Given the description of an element on the screen output the (x, y) to click on. 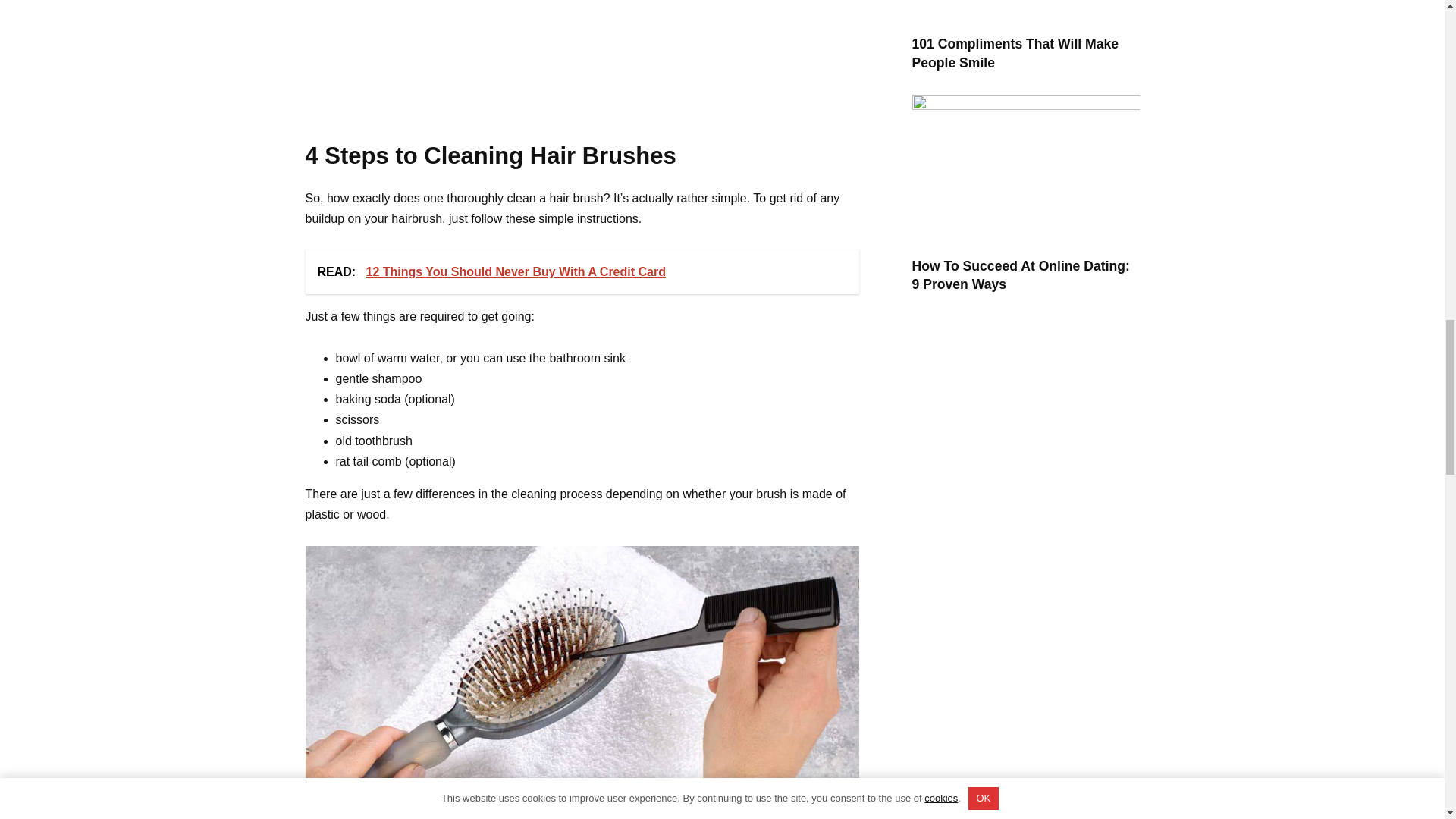
READ:   12 Things You Should Never Buy With A Credit Card (581, 271)
101 Compliments That Will Make People Smile (1014, 53)
How To Succeed At Online Dating: 9 Proven Ways (1020, 274)
